Given the description of an element on the screen output the (x, y) to click on. 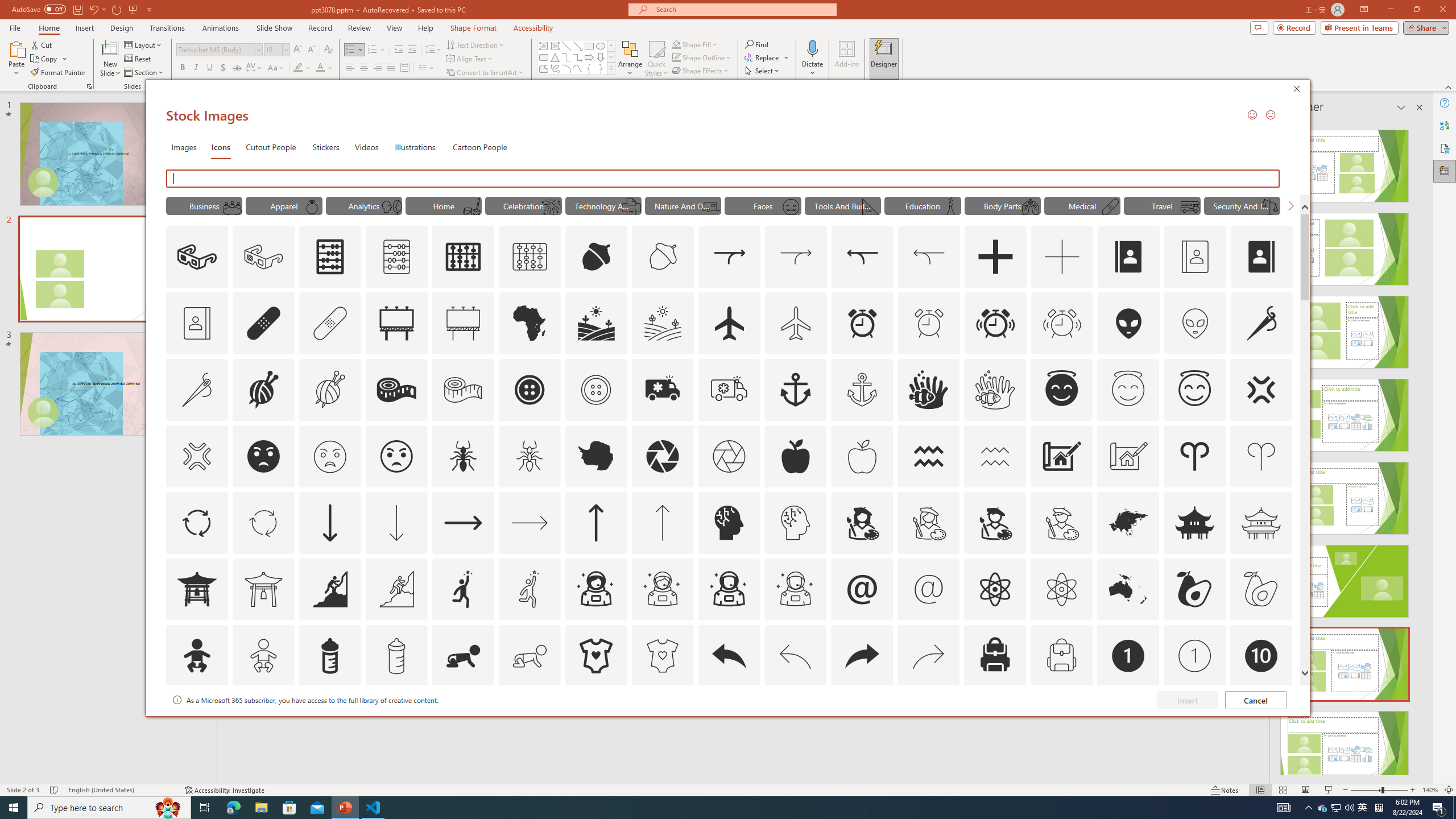
AutomationID: Icons_3dGlasses (197, 256)
"Analytics" Icons. (363, 205)
AutomationID: Icons_AngryFace_Outline (395, 455)
Text Direction (476, 44)
AutomationID: Icons_Badge3_M (462, 721)
AutomationID: Icons_AnemoneAndClownfish_M (995, 389)
Thumbnail (1283, 699)
IME Mode Icon - IME is disabled (1362, 807)
